Given the description of an element on the screen output the (x, y) to click on. 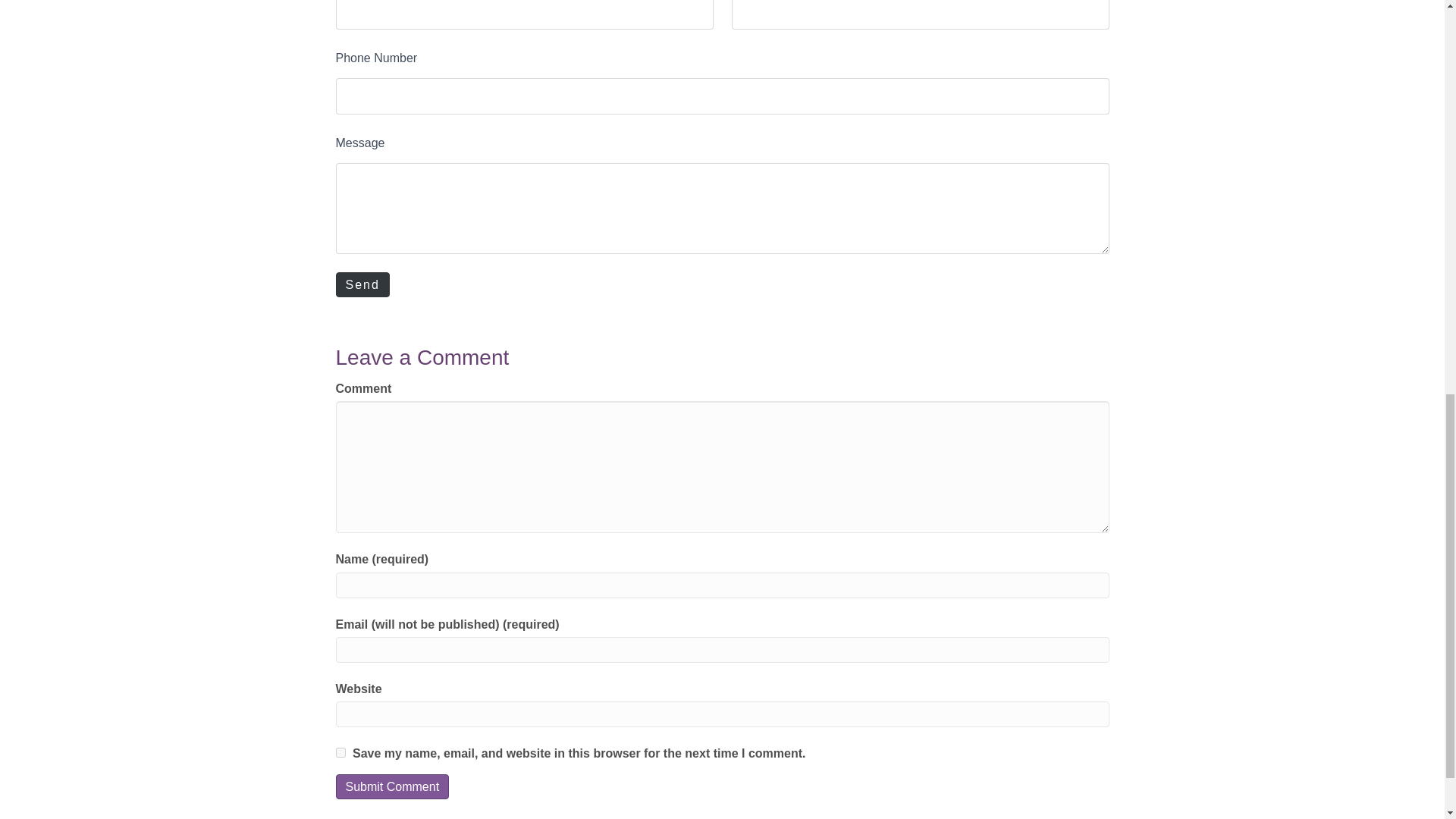
Submit Comment (391, 786)
Send (361, 284)
Send (361, 284)
Submit Comment (391, 786)
yes (339, 752)
